Given the description of an element on the screen output the (x, y) to click on. 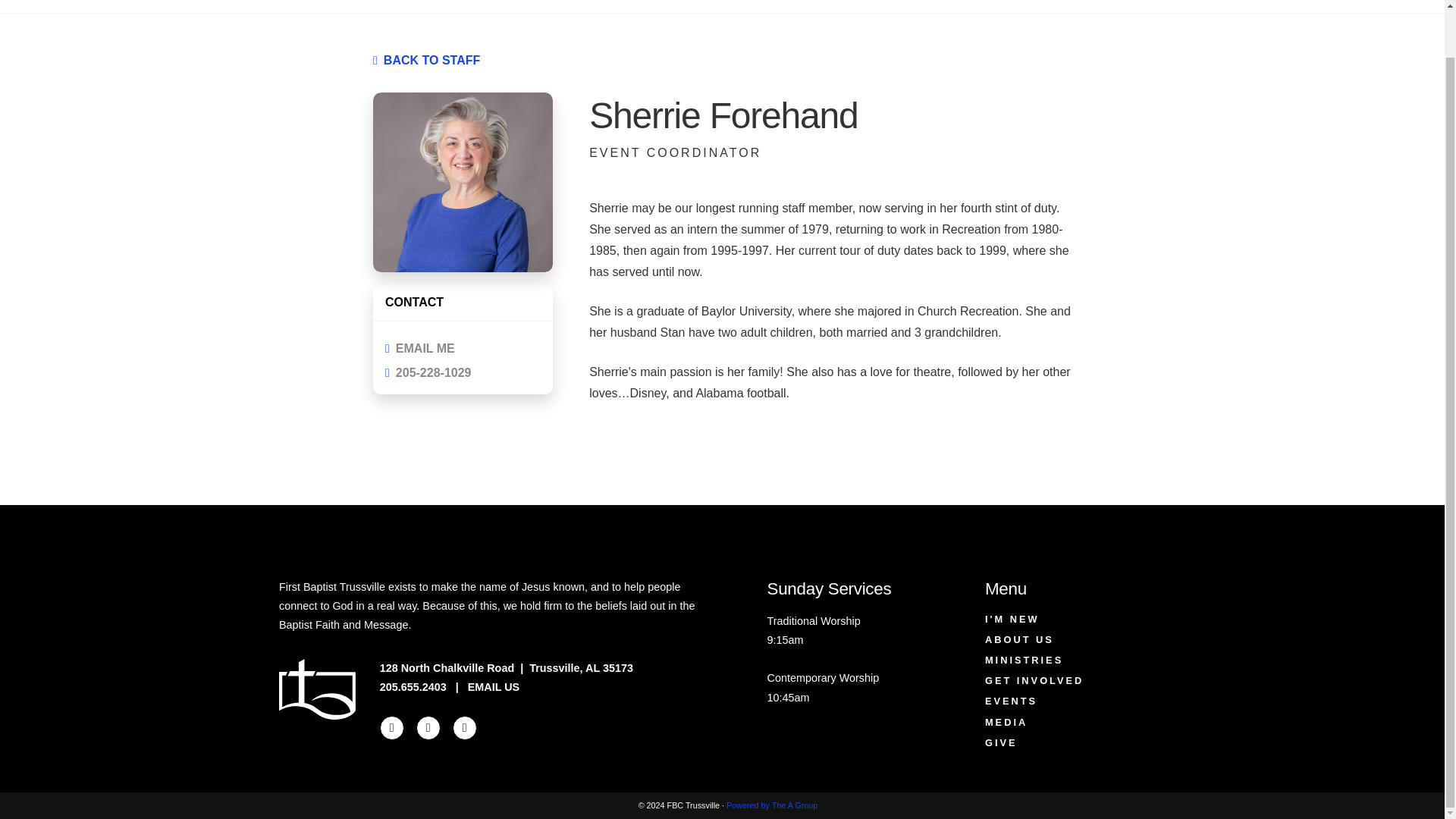
EMAIL ME (462, 348)
205-228-1029 (462, 372)
BACK TO STAFF (432, 60)
205.655.2403 (413, 686)
EMAIL US (493, 686)
